Given the description of an element on the screen output the (x, y) to click on. 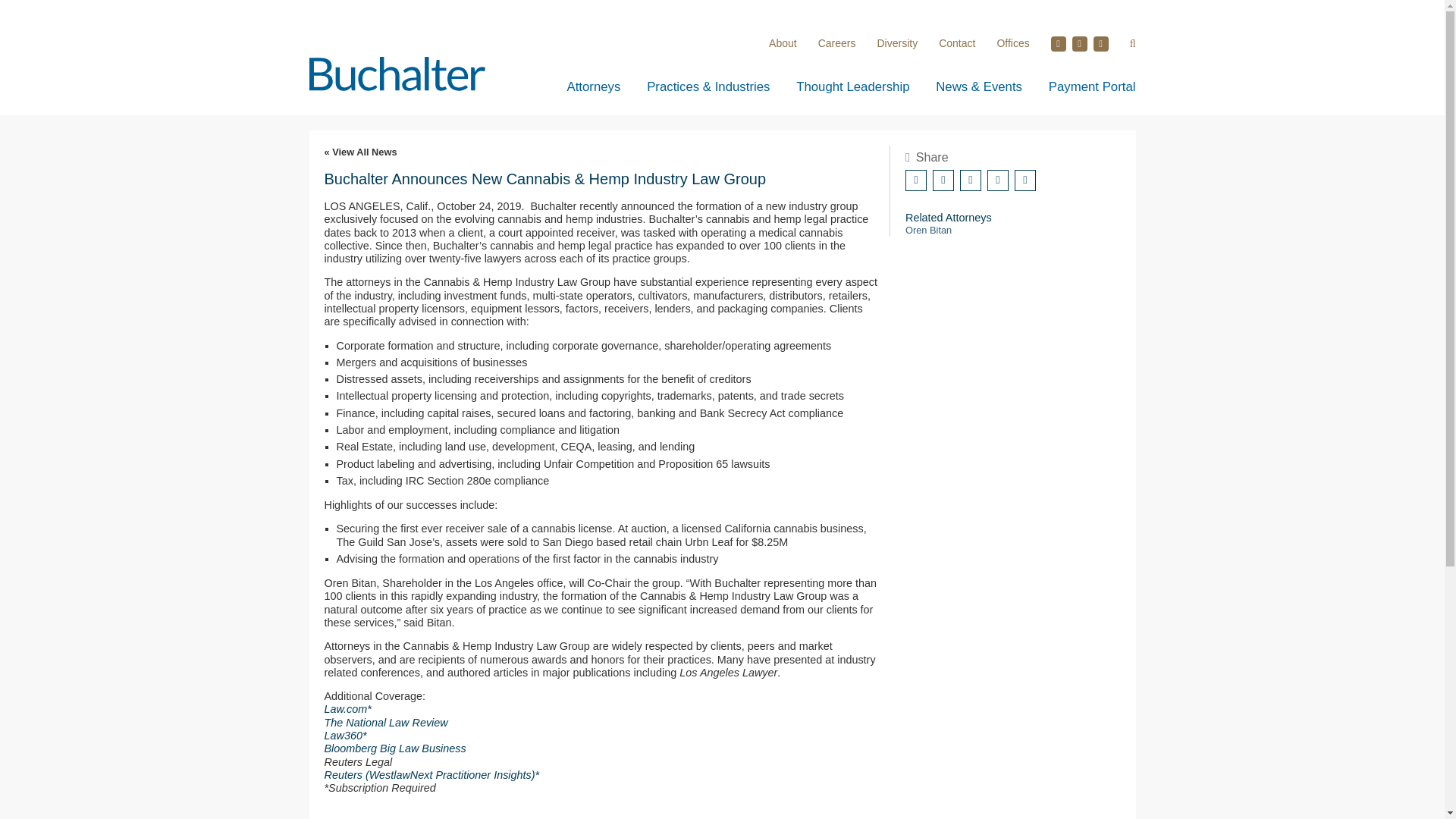
Careers (837, 42)
Offices (1012, 42)
Contact (957, 42)
Diversity (896, 42)
Thought Leadership (852, 86)
About (782, 42)
Attorneys (594, 86)
